Given the description of an element on the screen output the (x, y) to click on. 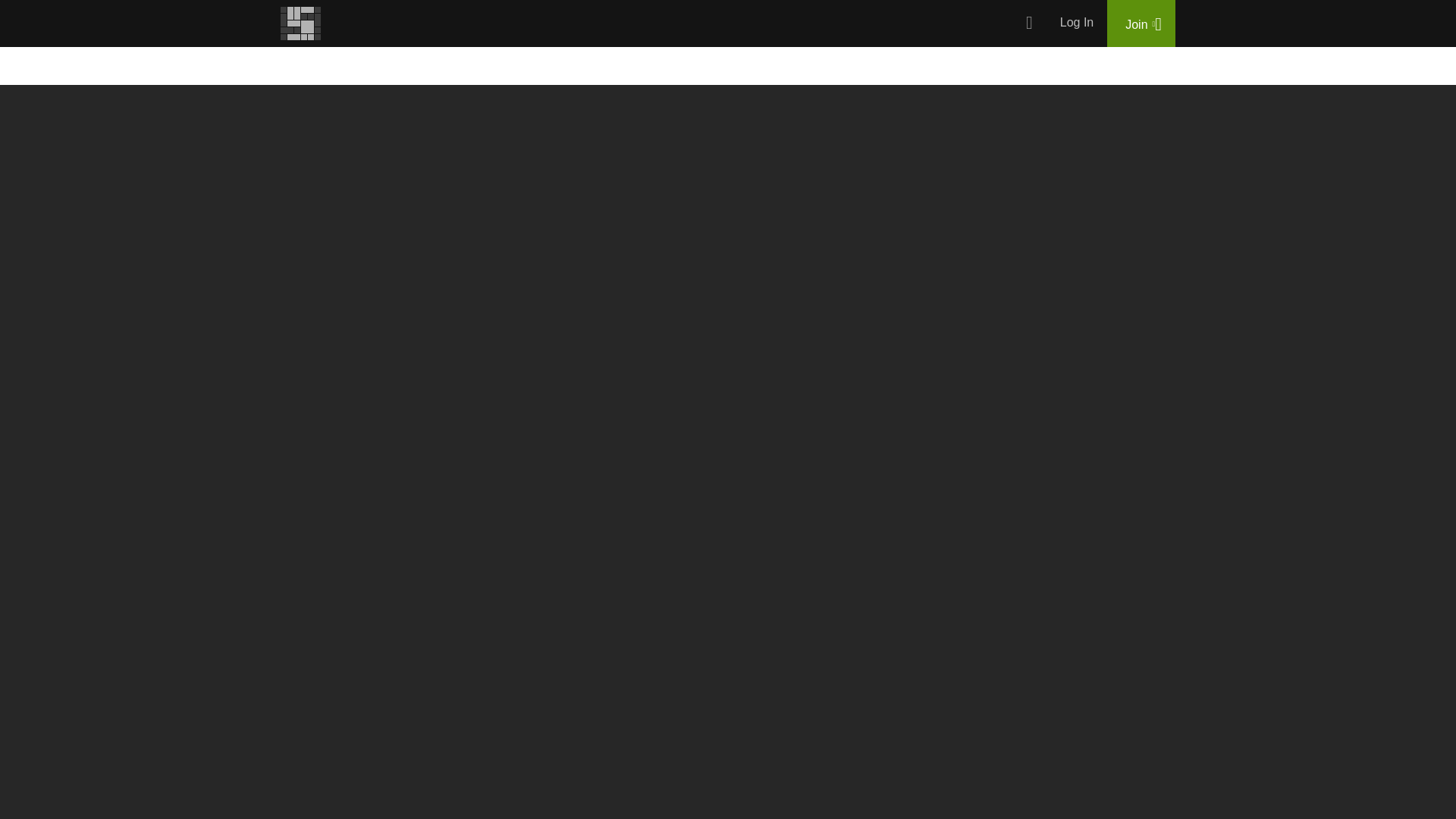
Join (1140, 23)
Log In (1076, 23)
